Given the description of an element on the screen output the (x, y) to click on. 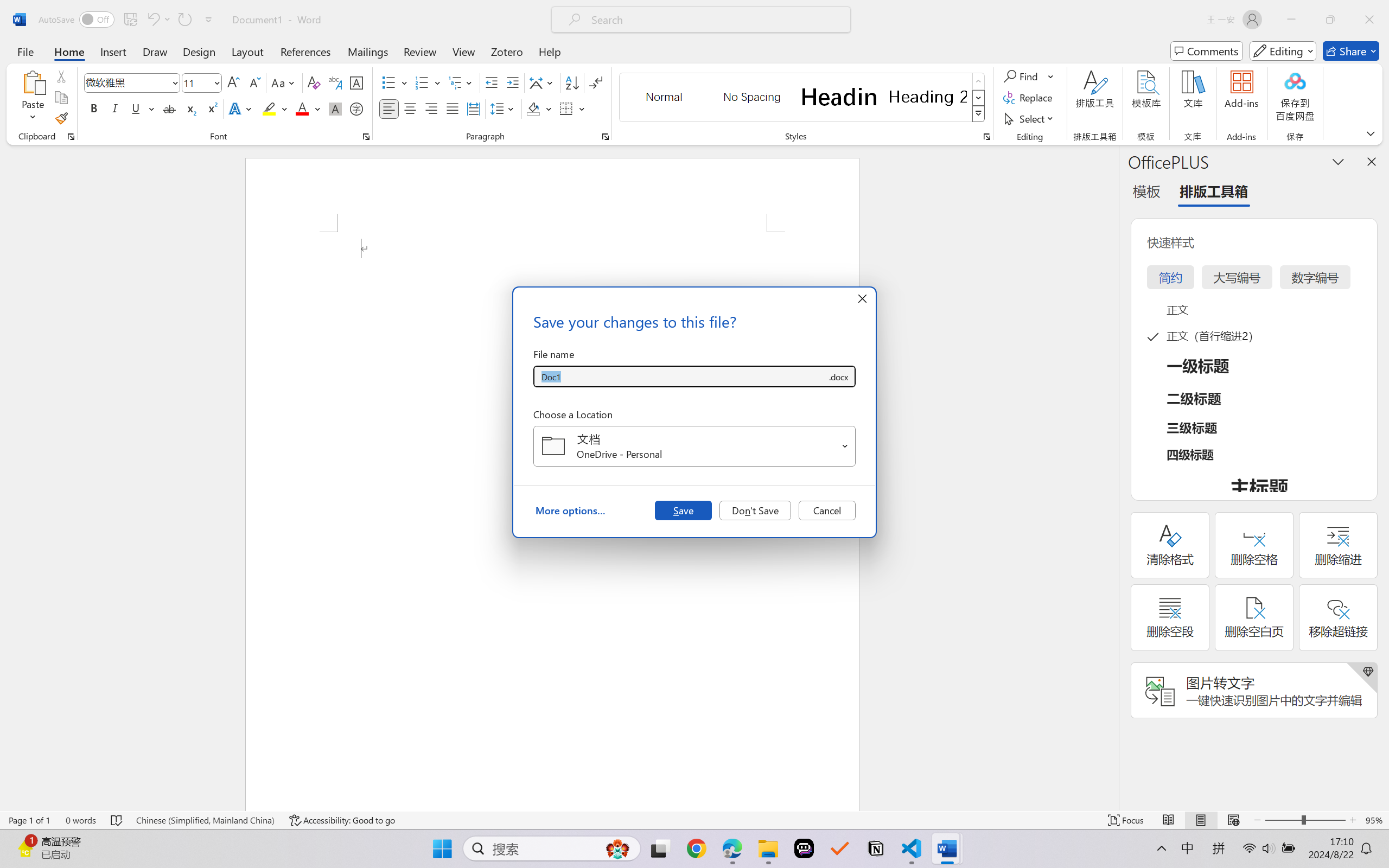
Class: NetUIScrollBar (1111, 477)
